Given the description of an element on the screen output the (x, y) to click on. 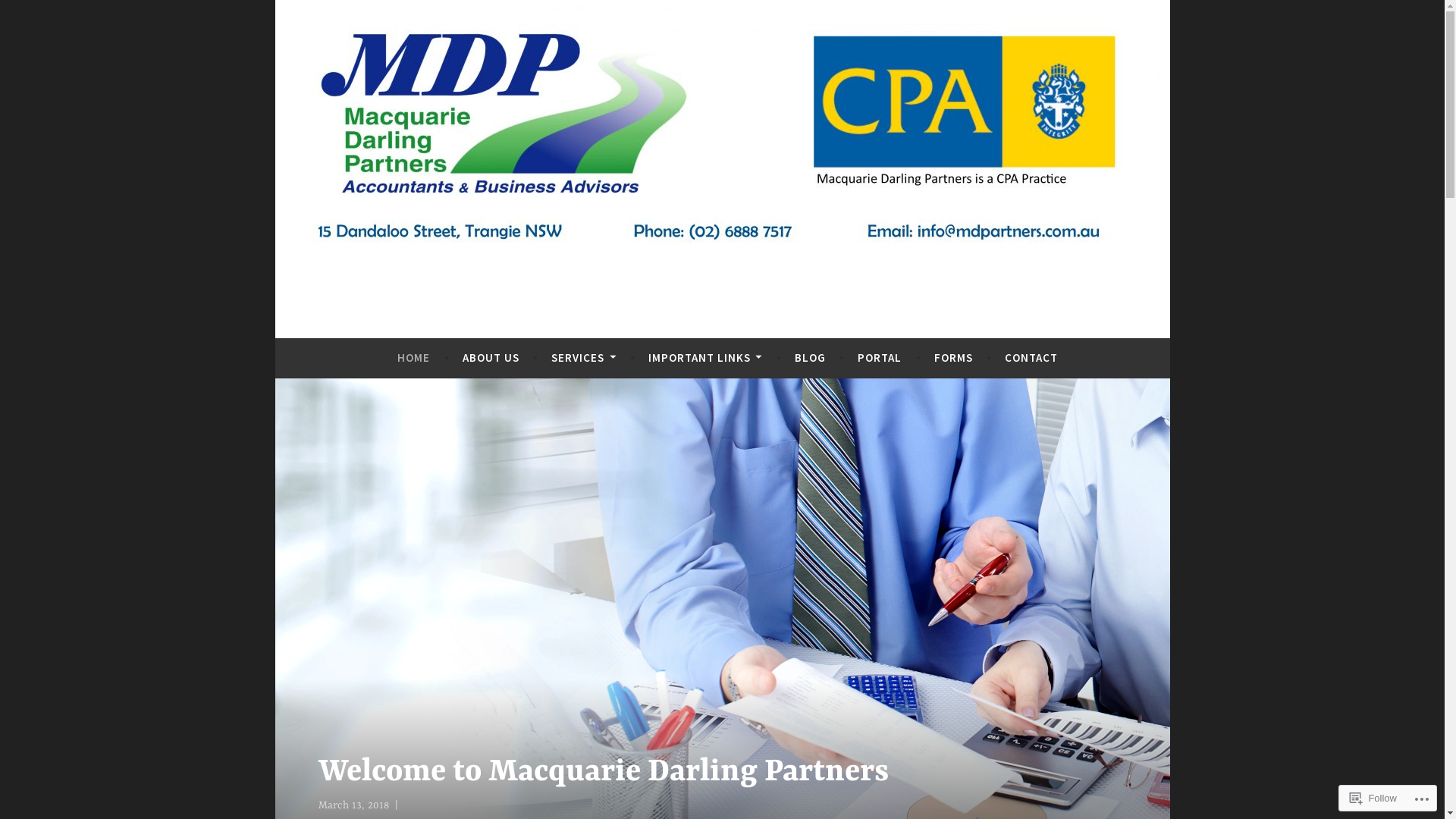
Follow Element type: text (1372, 797)
HOME Element type: text (413, 357)
BLOG Element type: text (809, 357)
CONTACT Element type: text (1030, 357)
SERVICES Element type: text (583, 357)
Welcome to Macquarie Darling Partners Element type: text (632, 772)
IMPORTANT LINKS Element type: text (705, 357)
PORTAL Element type: text (879, 357)
ABOUT US Element type: text (490, 357)
March 13, 2018 Element type: text (353, 805)
richardheckendorf Element type: text (448, 805)
FORMS Element type: text (953, 357)
Macquarie Darling Partners Element type: text (508, 324)
